Given the description of an element on the screen output the (x, y) to click on. 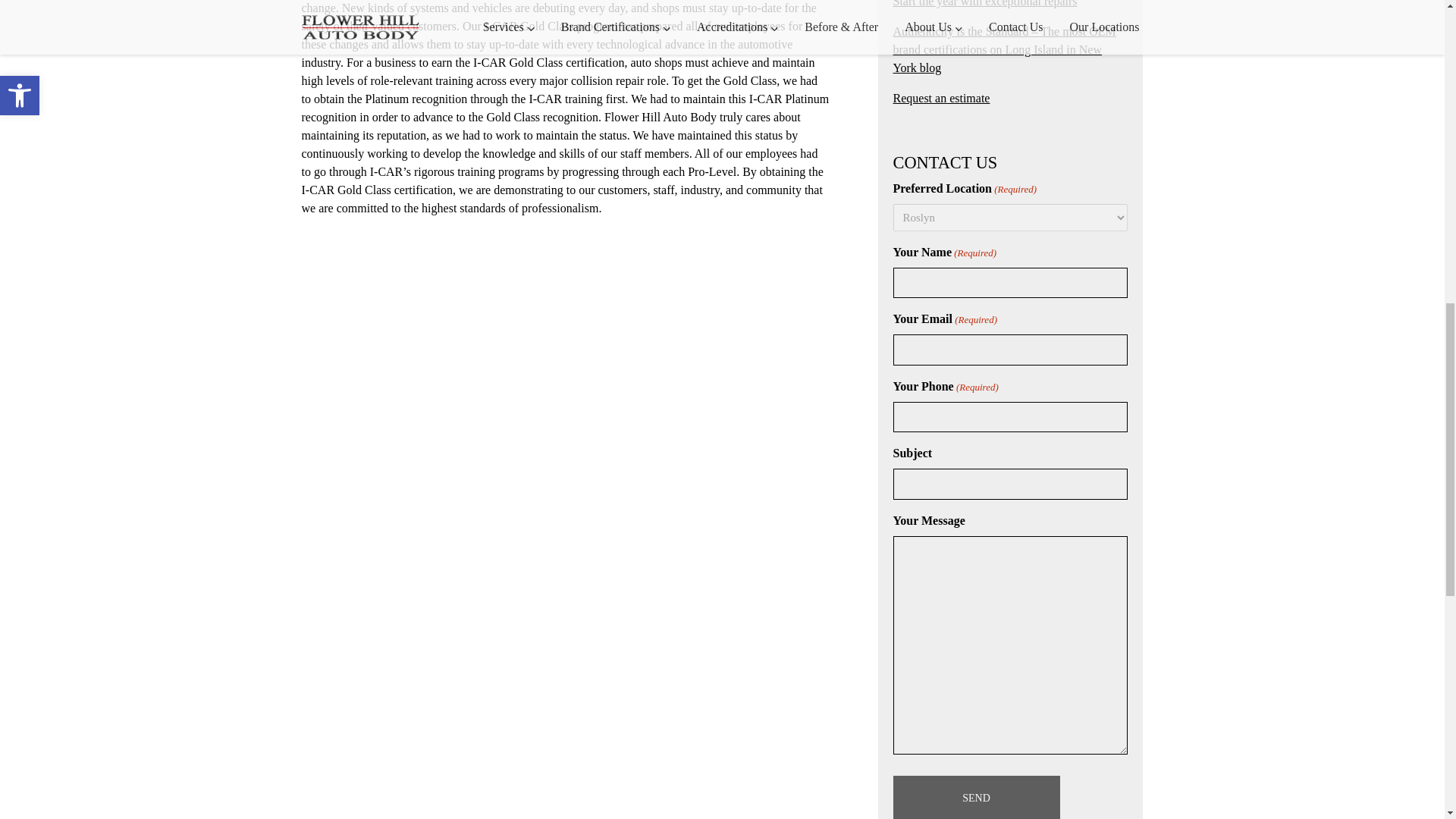
Send (976, 797)
